Given the description of an element on the screen output the (x, y) to click on. 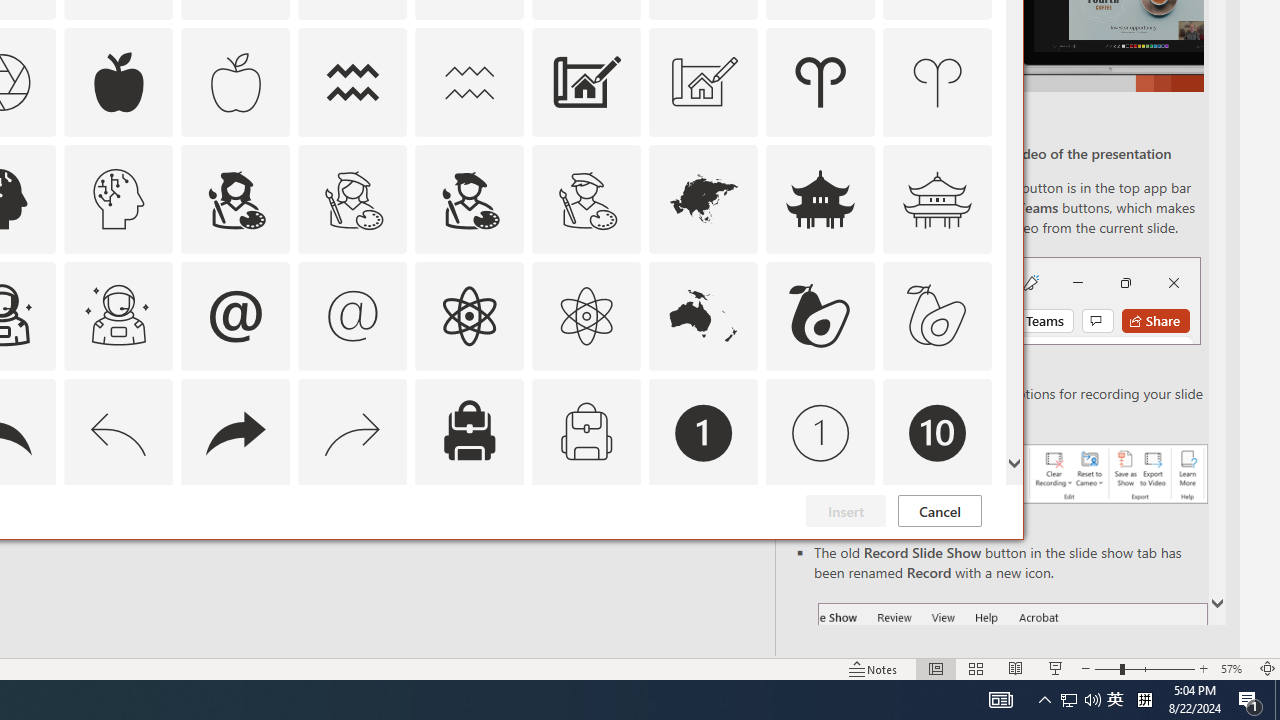
AutomationID: Icons_Badge7_M (469, 550)
AutomationID: Icons_Aries_M (938, 82)
Zoom 57% (1234, 668)
AutomationID: Icons_Apple (118, 82)
AutomationID: Icons_Badge1 (703, 432)
AutomationID: Icons_Badge7 (353, 550)
AutomationID: Icons_Badge10 (938, 432)
AutomationID: Icons_Aries (820, 82)
AutomationID: Icons_At (235, 316)
